Given the description of an element on the screen output the (x, y) to click on. 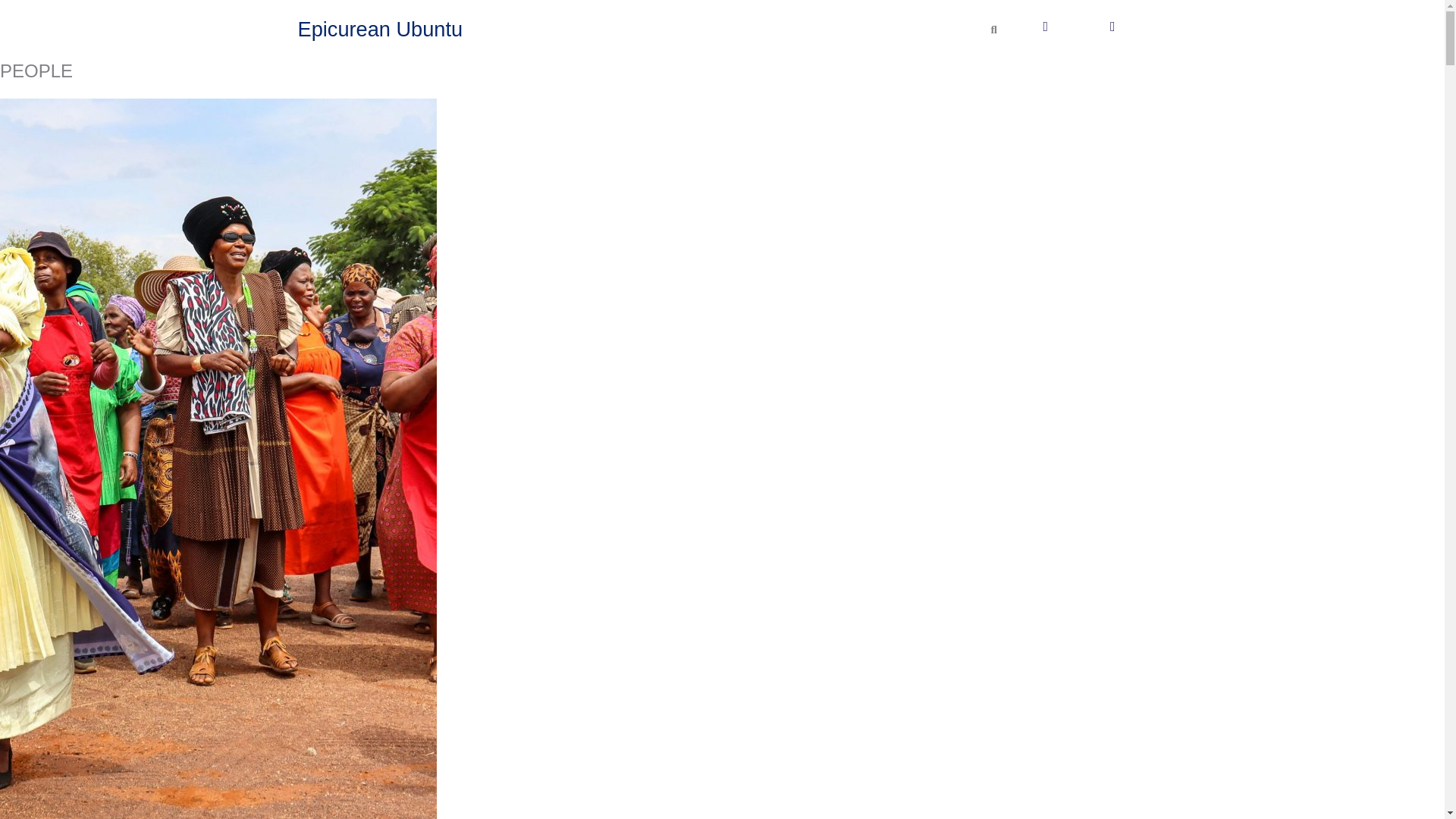
Search (988, 29)
